Given the description of an element on the screen output the (x, y) to click on. 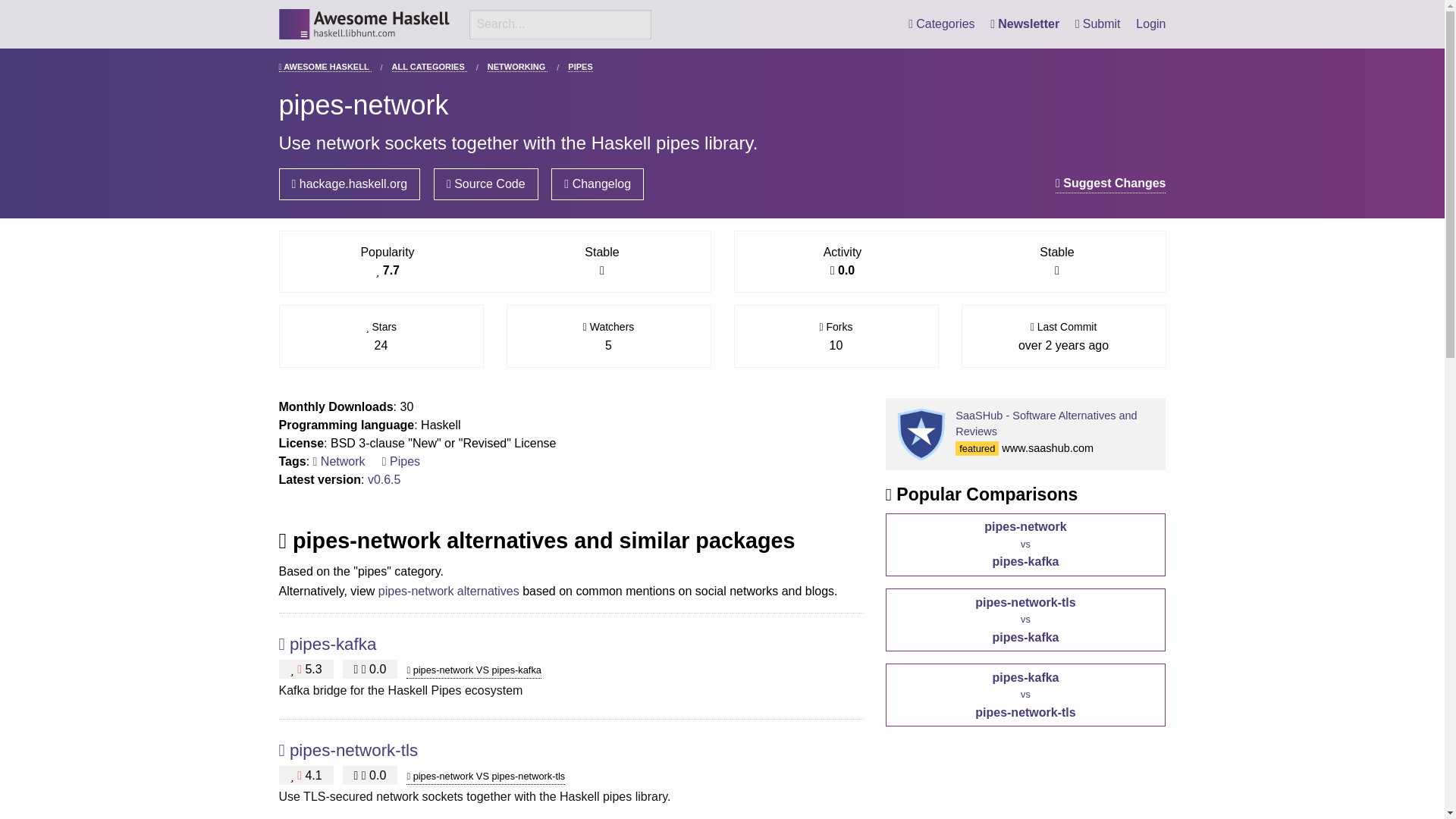
NETWORKING (517, 67)
Newsletter (1024, 24)
Awesome Haskell (364, 24)
Compare pipes-kafka and pipes-network-tls (1025, 694)
SaaSHub Logo (921, 434)
Network (339, 461)
pipes-network alternatives (448, 590)
v0.6.5 (384, 479)
pipes-network VS pipes-kafka (473, 670)
2022-04-15 23:57:00 -0700 (1062, 345)
pipes-network-tls (353, 750)
pipes-kafka (333, 643)
hackage.haskell.org (349, 183)
Source Code (485, 183)
ALL CATEGORIES (429, 67)
